Given the description of an element on the screen output the (x, y) to click on. 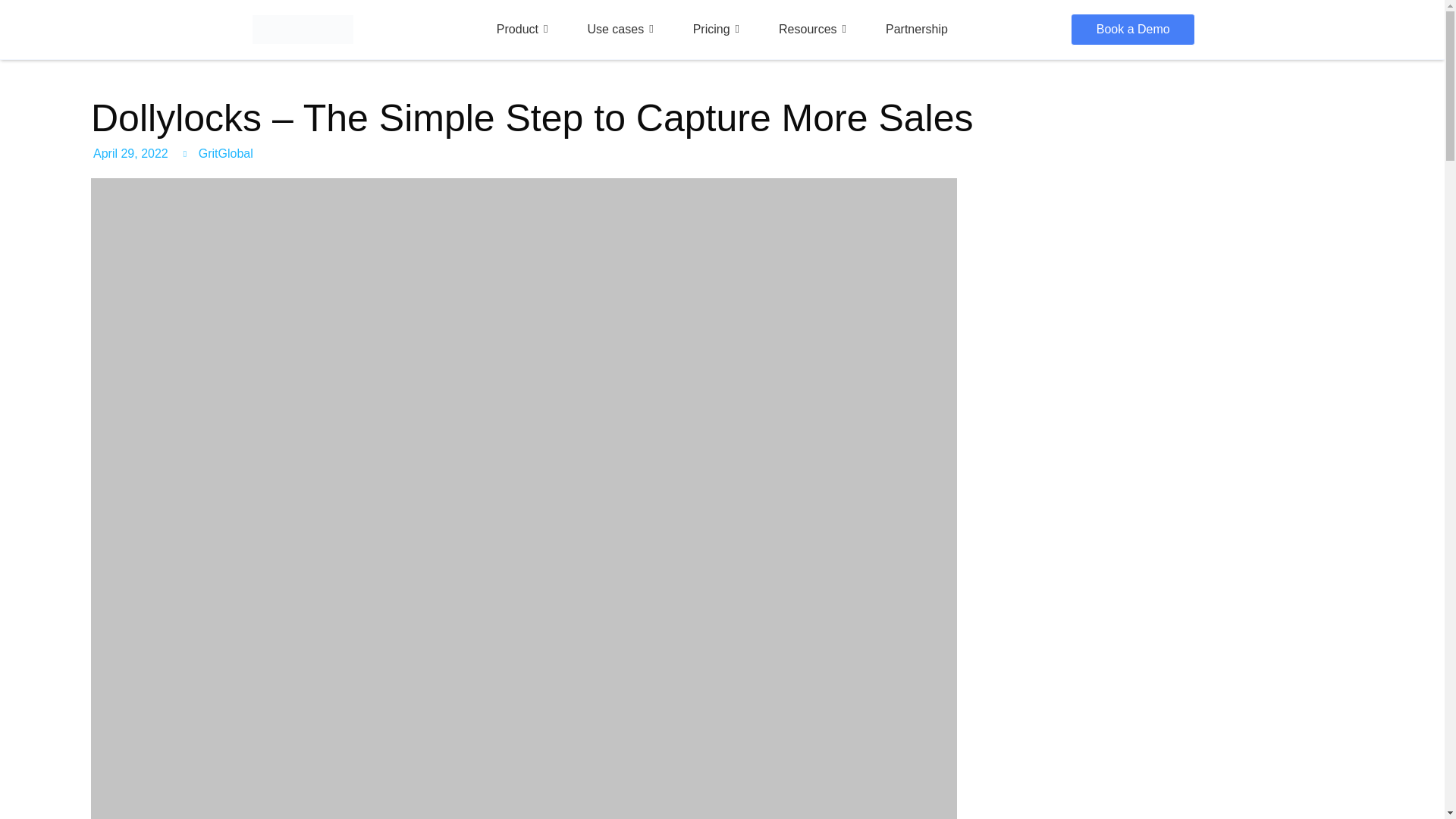
Product (522, 29)
Pricing (716, 29)
Resources (813, 29)
Use cases (620, 29)
